Given the description of an element on the screen output the (x, y) to click on. 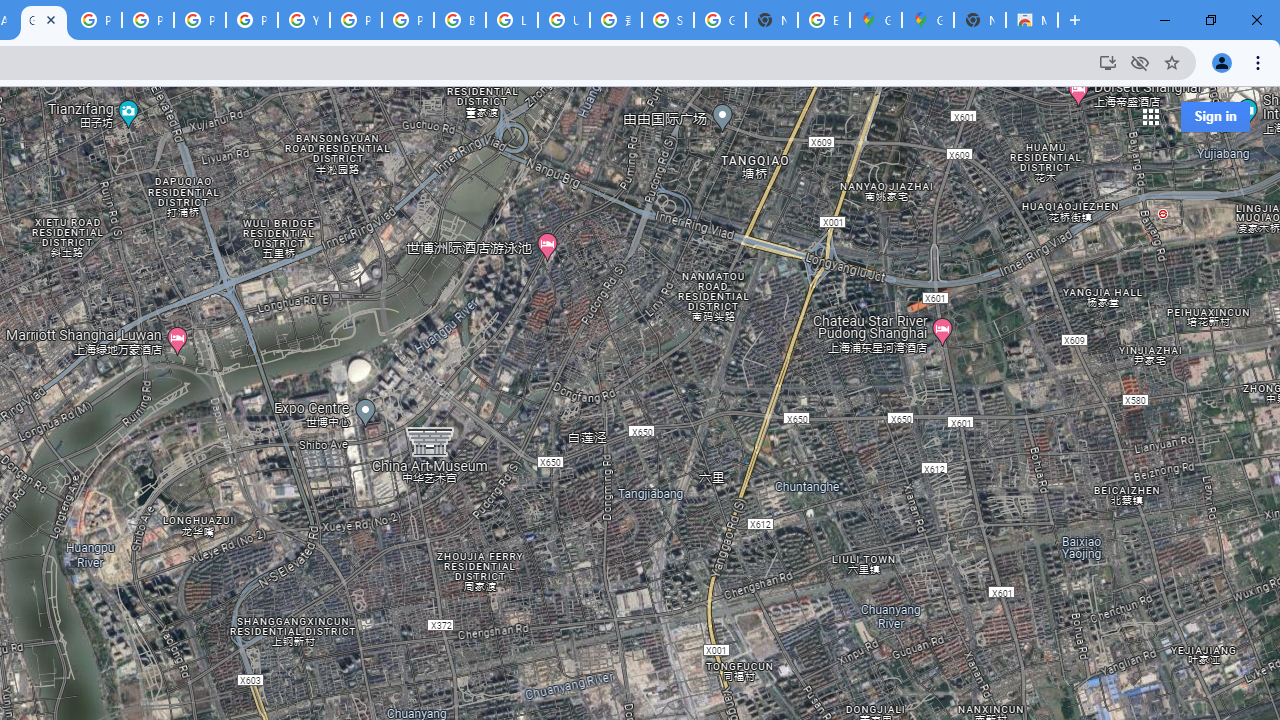
Install Google Maps (1107, 62)
New Tab (979, 20)
Sign in - Google Accounts (667, 20)
Google Maps (927, 20)
YouTube (303, 20)
Explore new street-level details - Google Maps Help (823, 20)
